Given the description of an element on the screen output the (x, y) to click on. 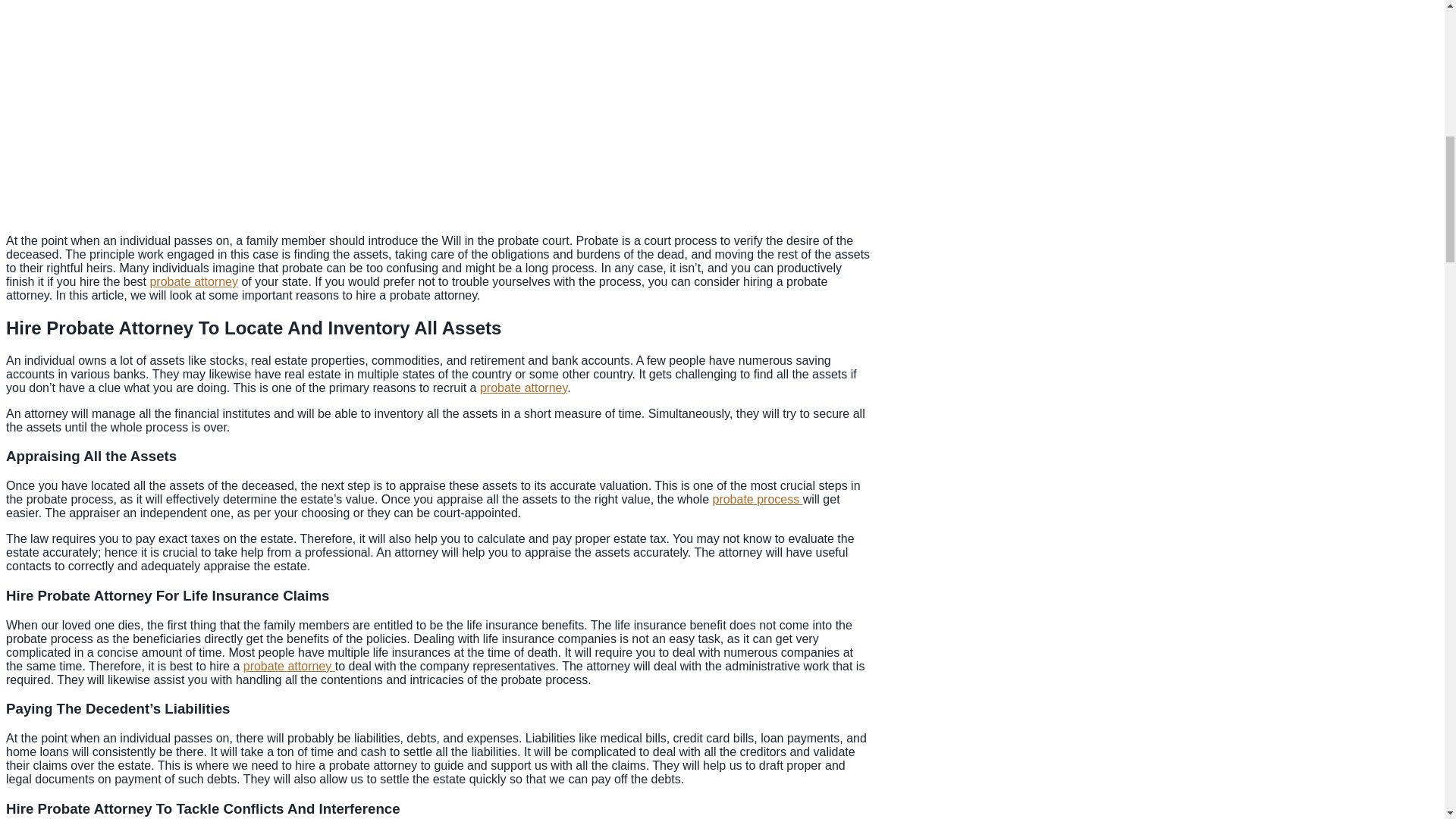
probate attorney (523, 387)
probate attorney (288, 666)
probate attorney (193, 281)
probate process (756, 499)
